Given the description of an element on the screen output the (x, y) to click on. 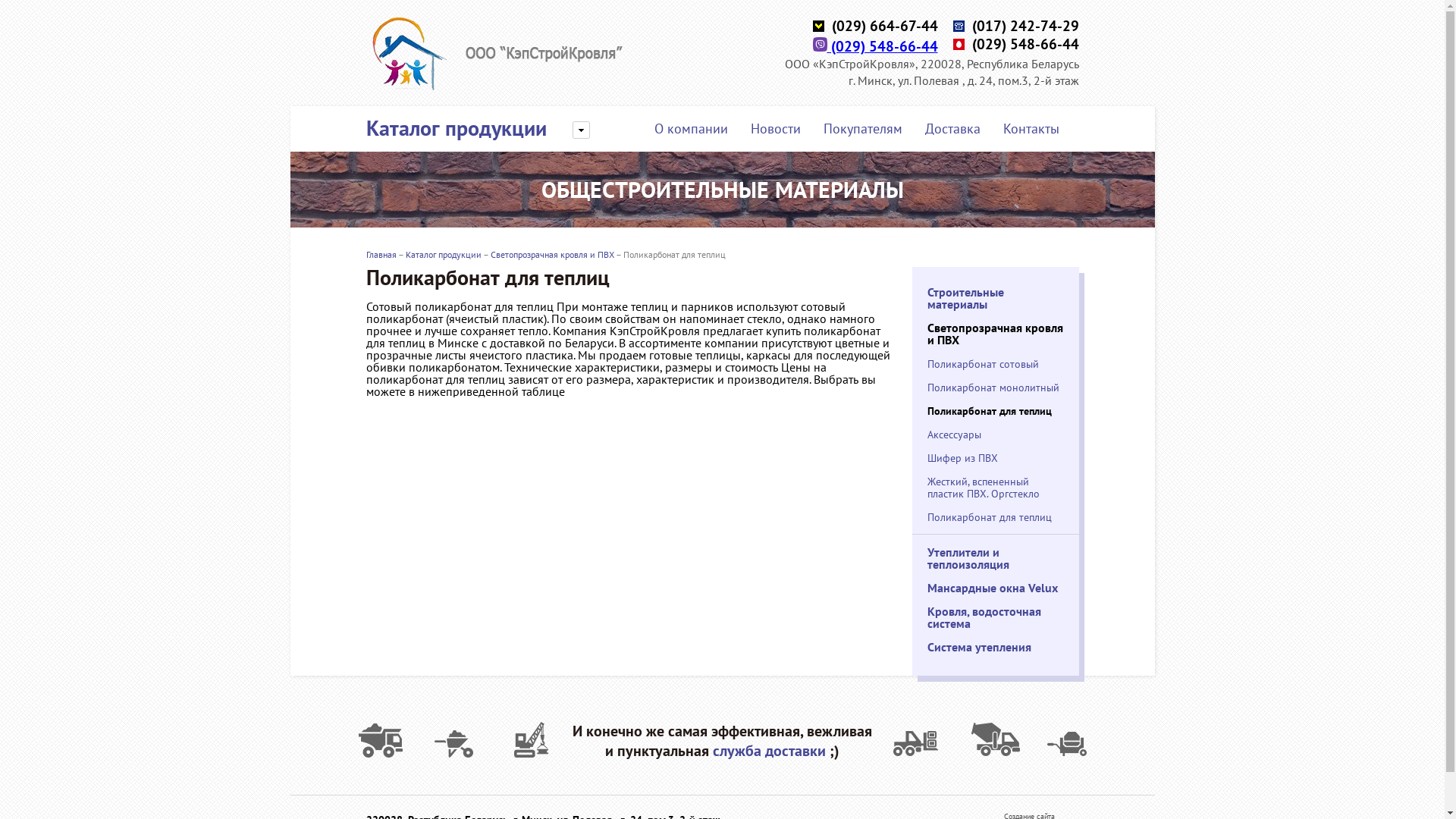
(029) 548-66-44 Element type: text (875, 46)
